Given the description of an element on the screen output the (x, y) to click on. 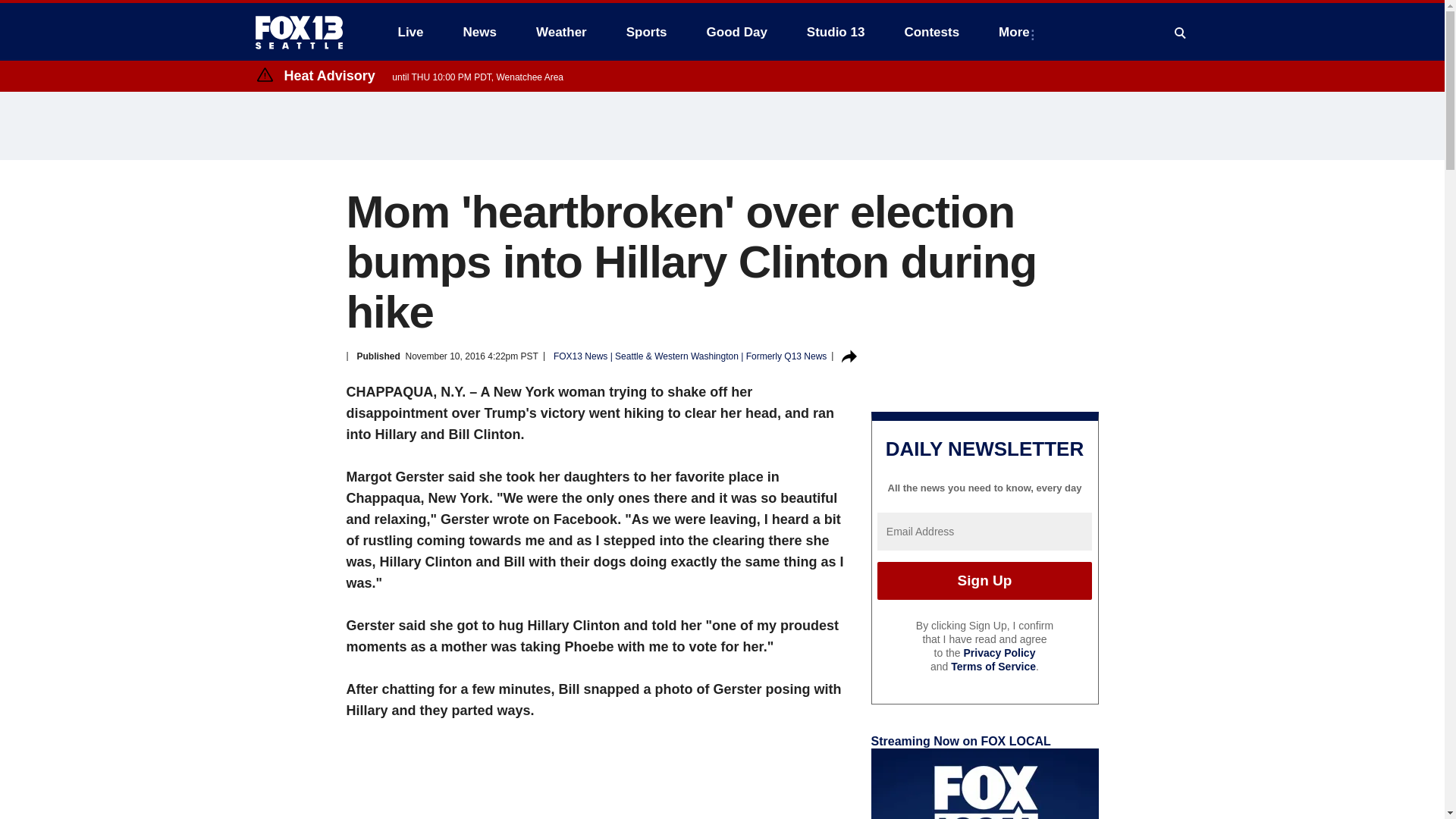
Live (410, 32)
Contests (931, 32)
Sign Up (984, 580)
News (479, 32)
More (1017, 32)
Weather (561, 32)
Good Day (736, 32)
Studio 13 (835, 32)
Sports (646, 32)
